Given the description of an element on the screen output the (x, y) to click on. 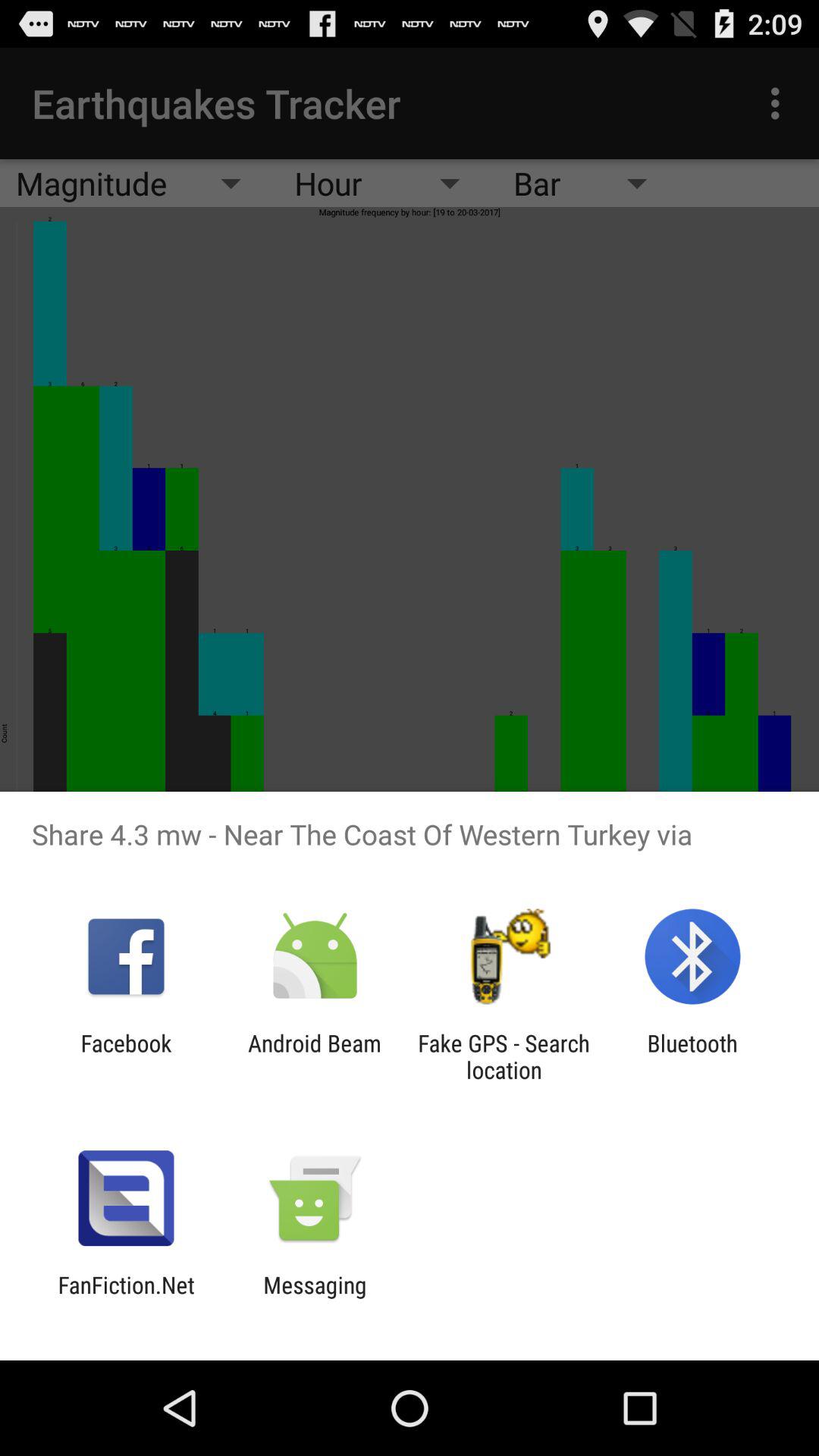
choose the facebook app (125, 1056)
